Given the description of an element on the screen output the (x, y) to click on. 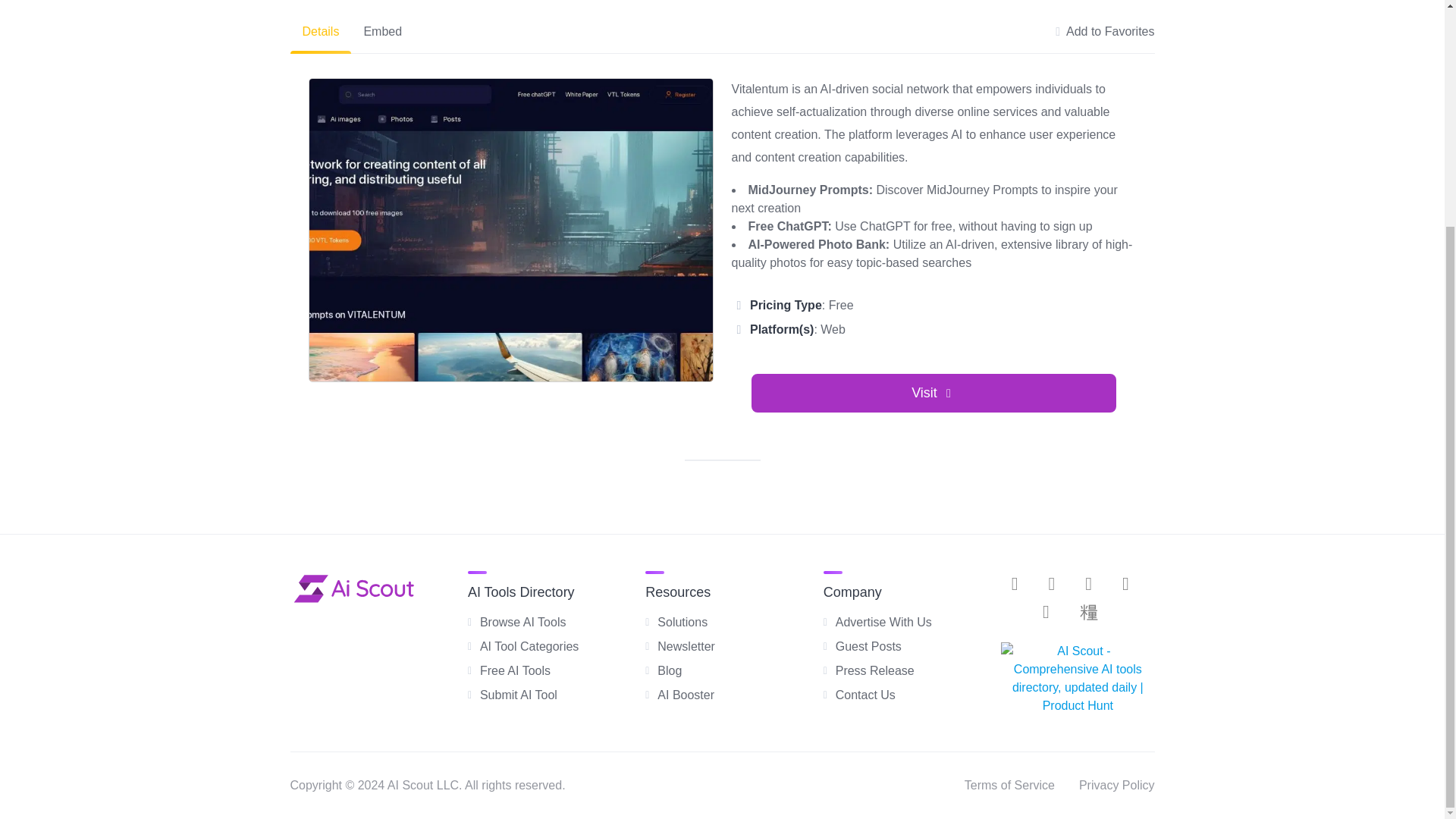
Add to Favorites (1104, 31)
Details (320, 31)
Blog (669, 670)
Free AI Tools (515, 670)
Submit AI Tool (518, 694)
Solutions (682, 621)
Browse AI Tools (523, 621)
Embed (381, 31)
Visit (933, 392)
Newsletter (686, 645)
AI Tool Categories (529, 645)
